Given the description of an element on the screen output the (x, y) to click on. 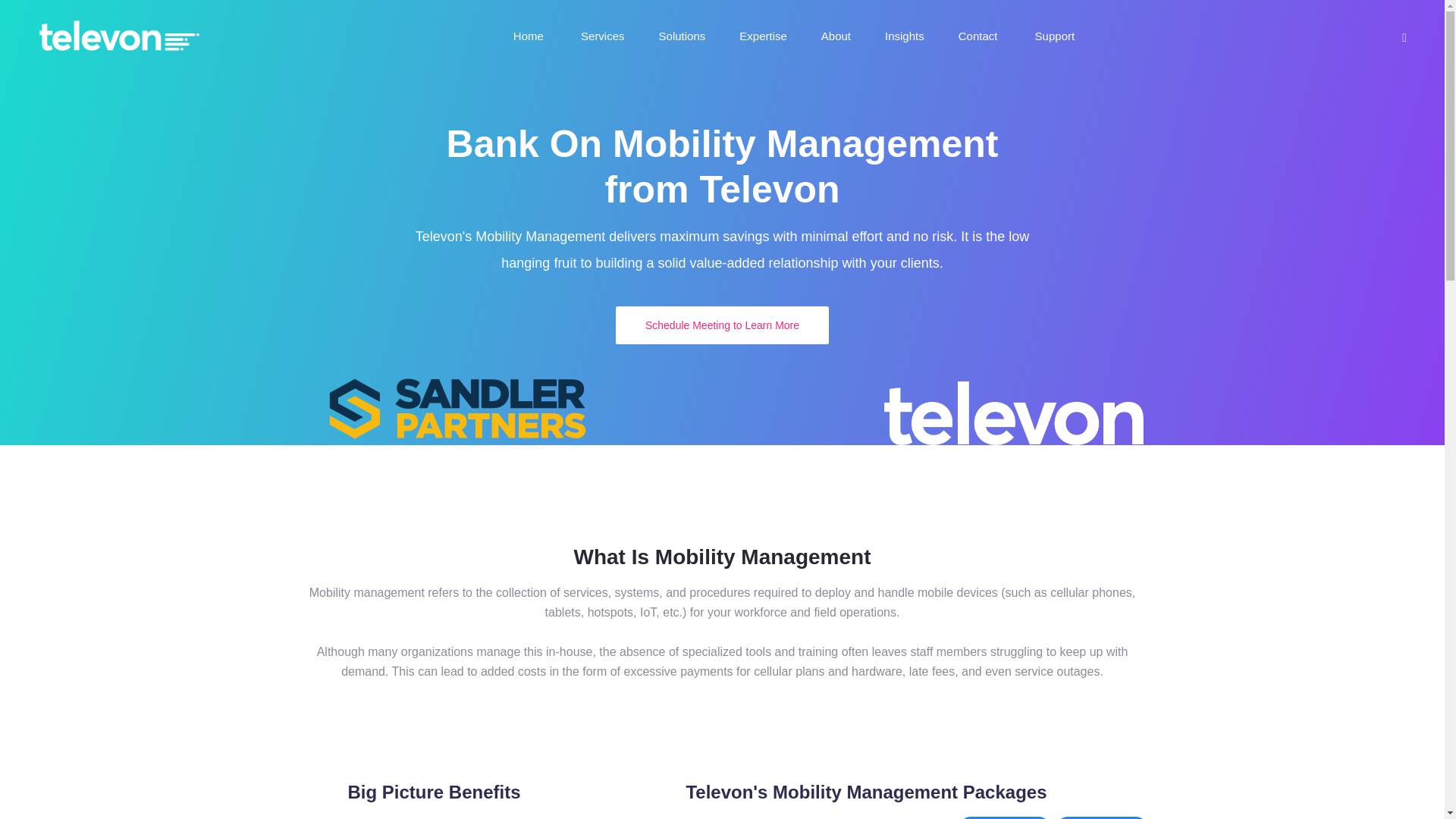
Contact  (979, 34)
Home  (530, 34)
About (835, 34)
Solutions (682, 34)
Insights (904, 34)
Expertise (763, 34)
Solutions (682, 34)
Expertise (763, 34)
Home (530, 34)
Schedule Meeting to Learn More (721, 324)
Support  (1056, 34)
Insights (904, 34)
About (835, 34)
Services (602, 34)
